Given the description of an element on the screen output the (x, y) to click on. 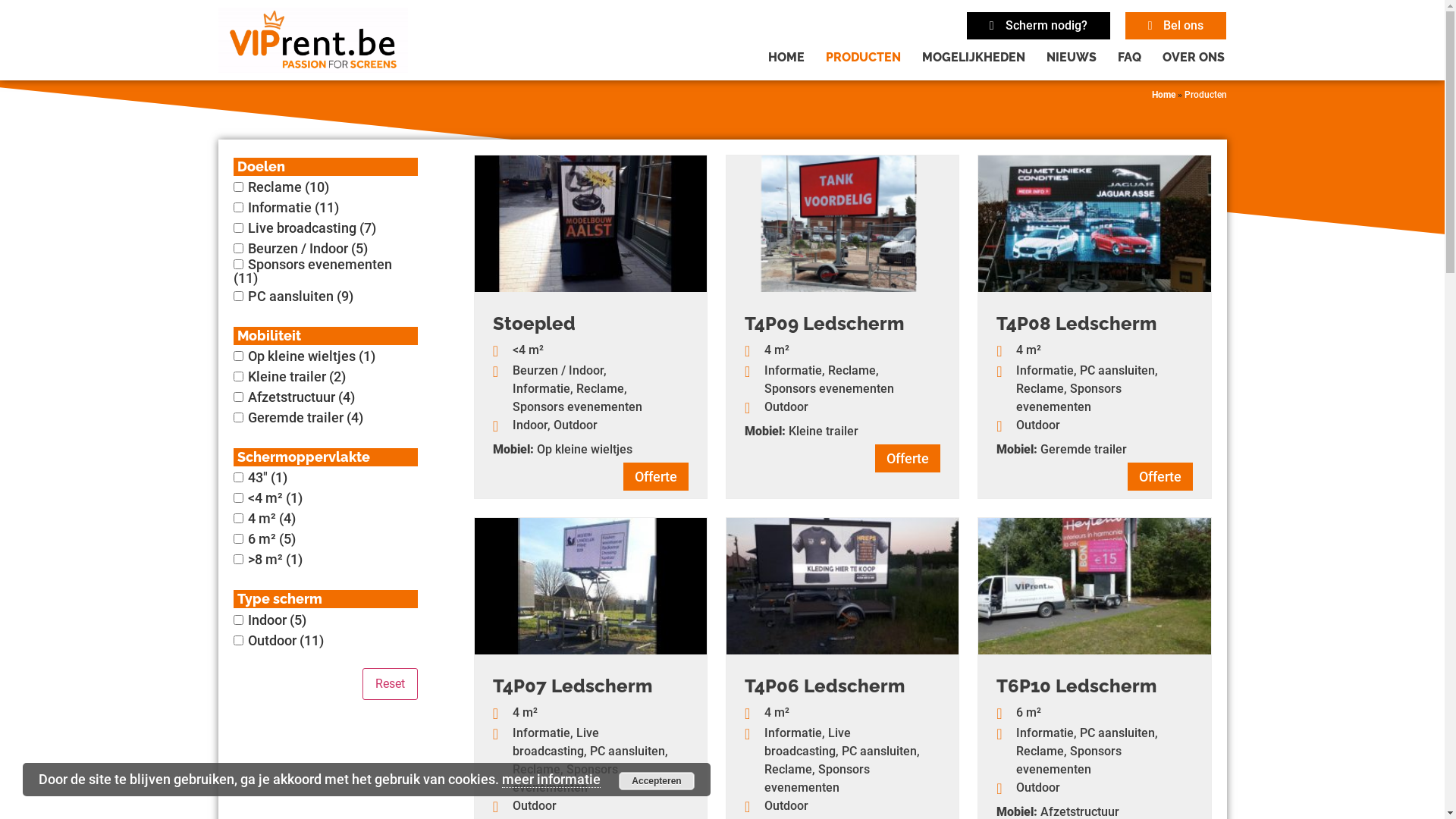
PRODUCTEN Element type: text (863, 57)
Offerte Element type: text (1159, 476)
OVER ONS Element type: text (1193, 57)
FAQ Element type: text (1129, 57)
MOGELIJKHEDEN Element type: text (973, 57)
NIEUWS Element type: text (1071, 57)
Offerte Element type: text (655, 476)
Scherm nodig? Element type: text (1038, 25)
Accepteren Element type: text (656, 780)
Bel ons Element type: text (1175, 25)
Home Element type: text (1162, 94)
meer informatie Element type: text (551, 779)
Producten Element type: text (1205, 94)
HOME Element type: text (786, 57)
Offerte Element type: text (907, 458)
